Given the description of an element on the screen output the (x, y) to click on. 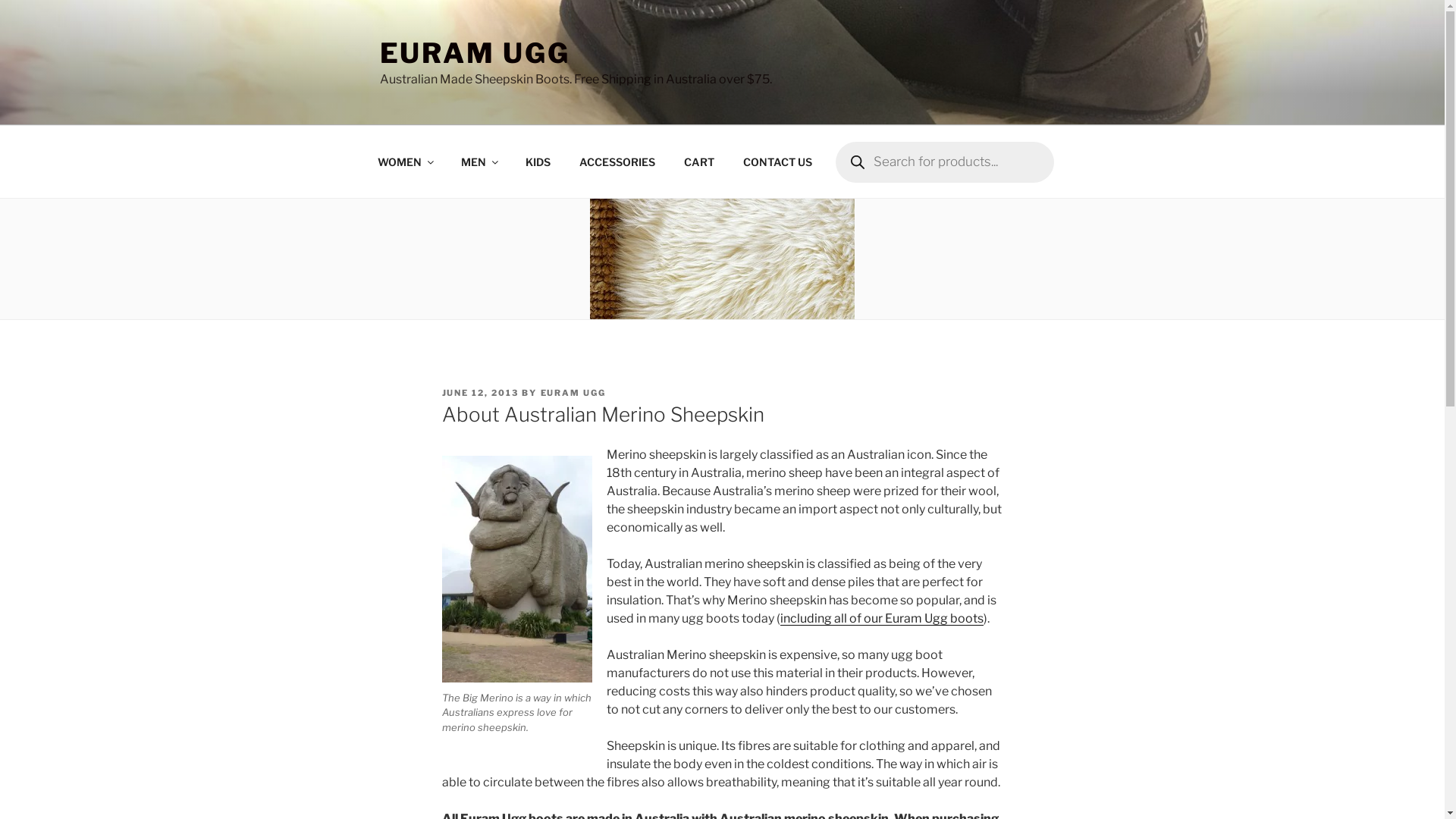
JUNE 12, 2013 Element type: text (479, 392)
ACCESSORIES Element type: text (616, 160)
EURAM UGG Element type: text (474, 52)
MEN Element type: text (478, 160)
including all of our Euram Ugg boots Element type: text (881, 618)
WOMEN Element type: text (404, 160)
CONTACT US Element type: text (777, 160)
EURAM UGG Element type: text (572, 392)
KIDS Element type: text (538, 160)
CART Element type: text (698, 160)
